Given the description of an element on the screen output the (x, y) to click on. 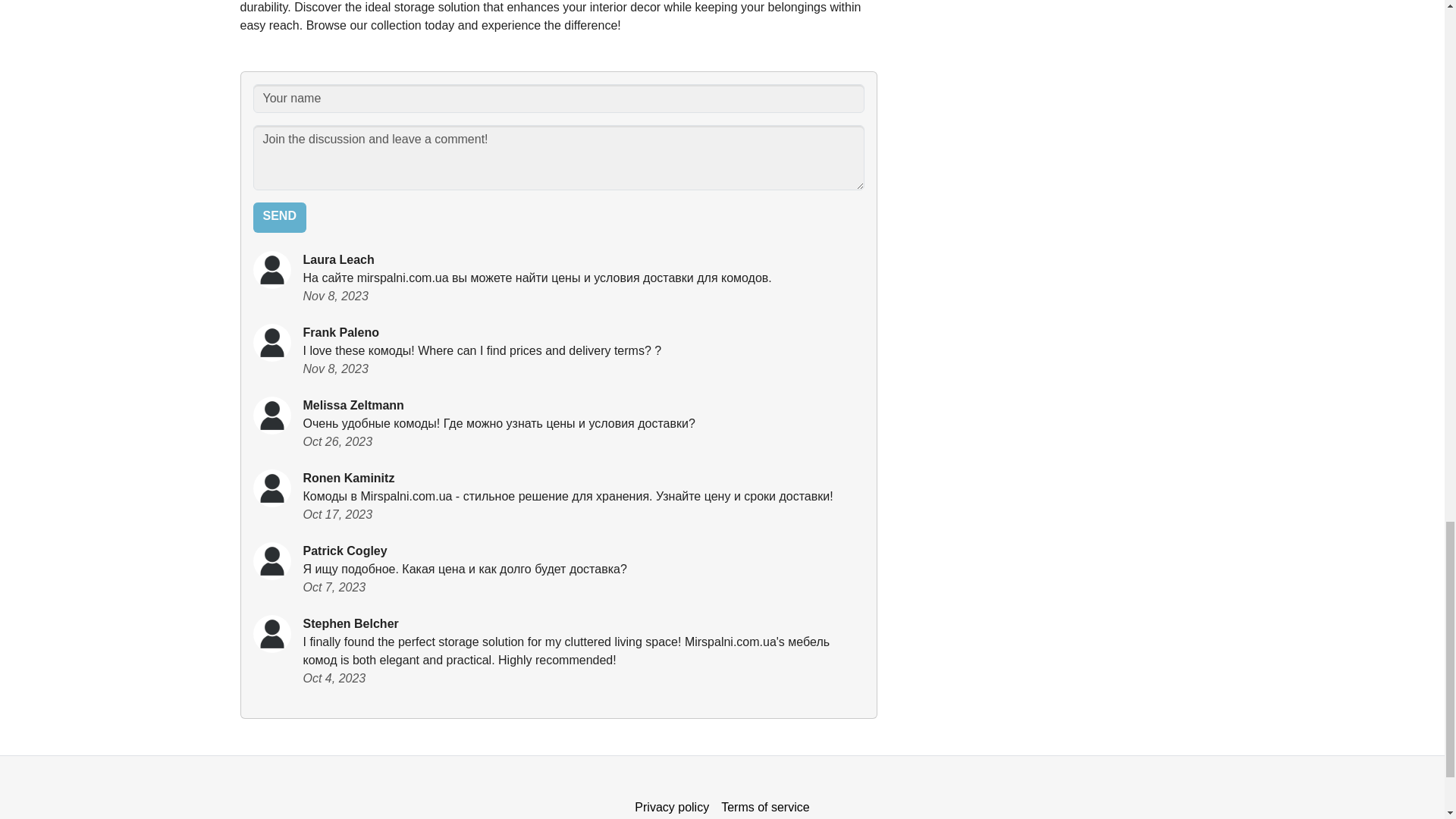
Send (279, 217)
Terms of service (764, 805)
Send (279, 217)
Privacy policy (671, 805)
